Given the description of an element on the screen output the (x, y) to click on. 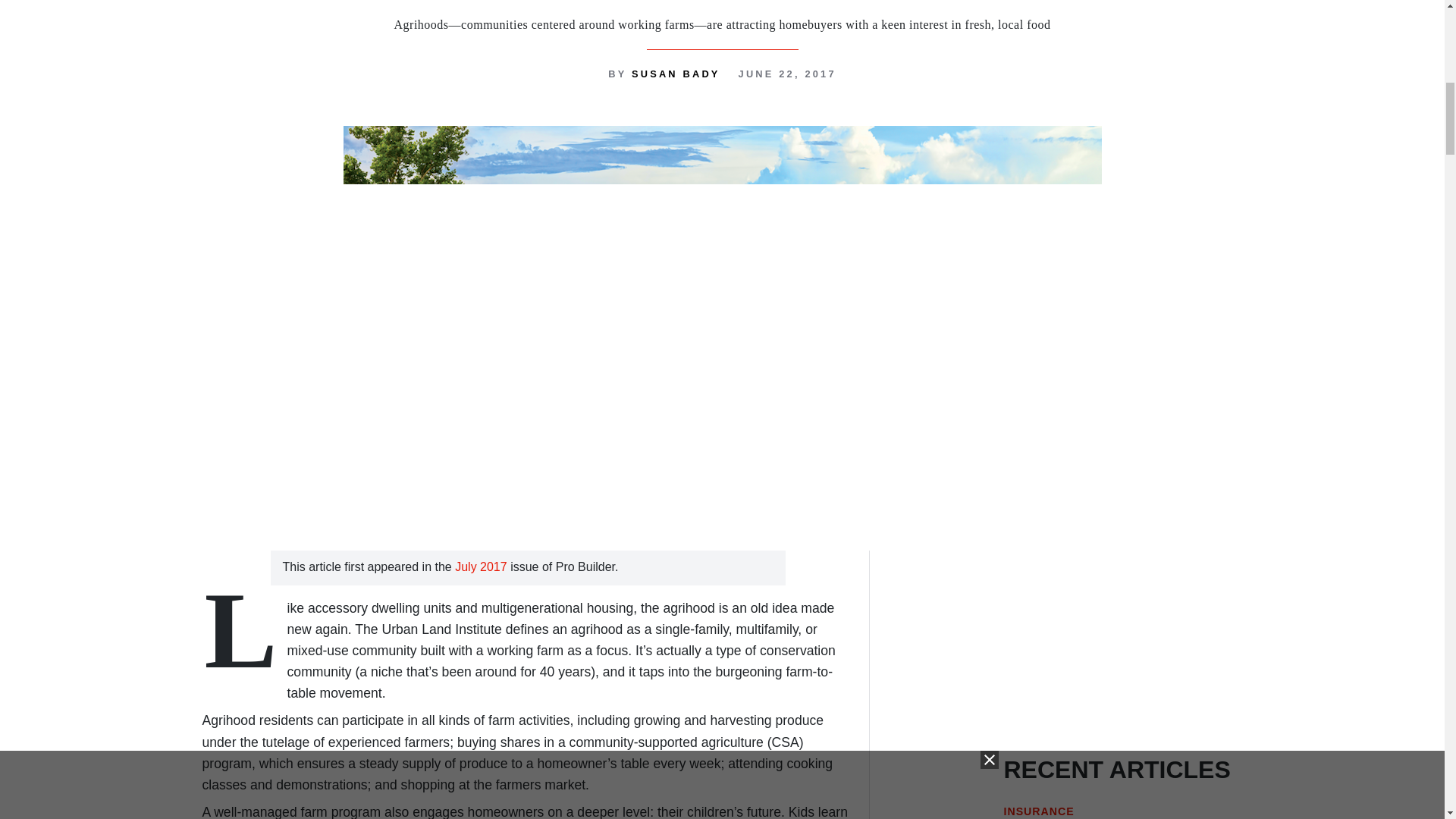
SUSAN BADY (675, 73)
Thursday, June 22, 2017 - 15:51 (786, 73)
July 2017 (482, 566)
3rd party ad content (1130, 637)
